Given the description of an element on the screen output the (x, y) to click on. 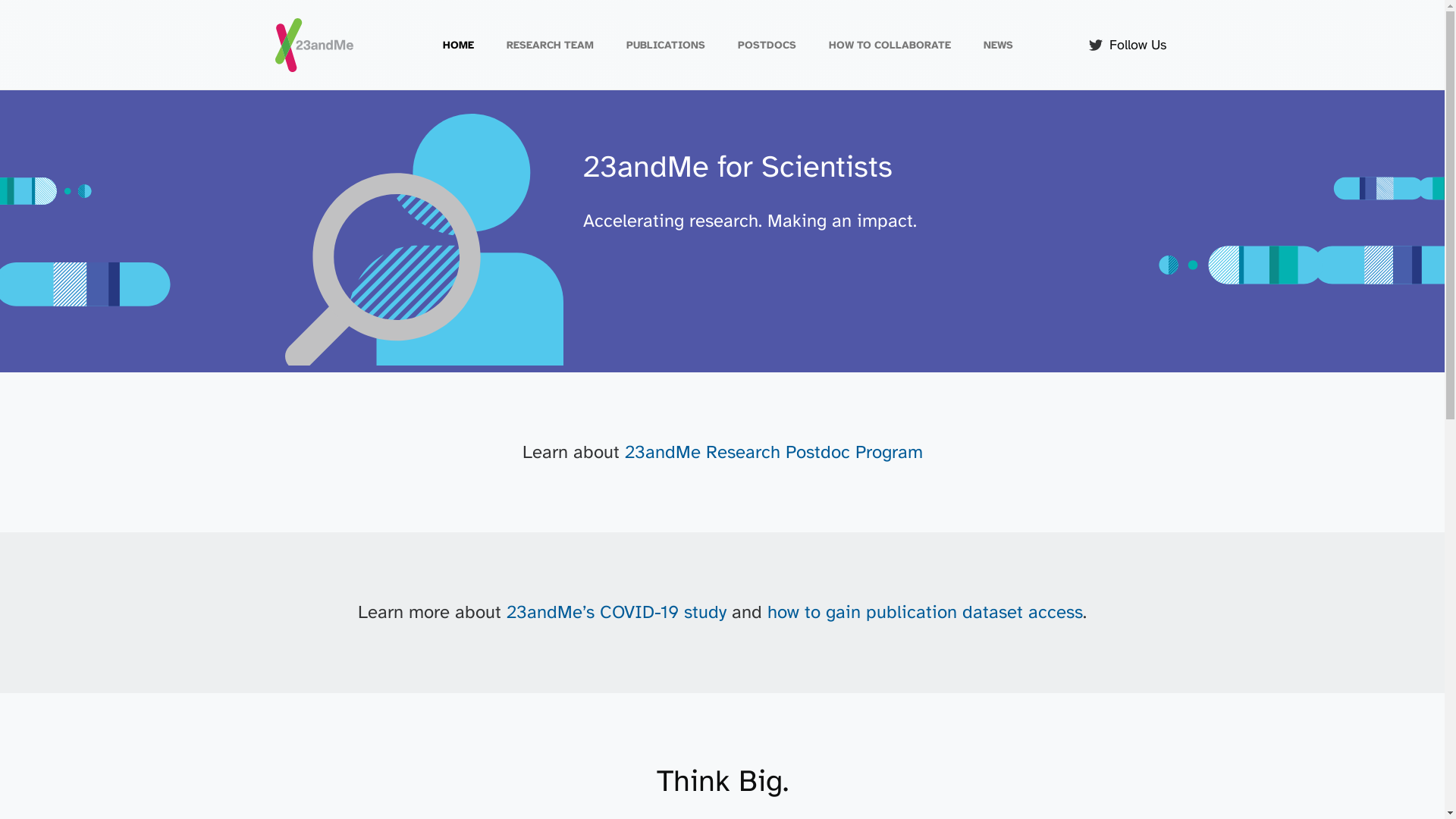
POSTDOCS Element type: text (766, 45)
RESEARCH TEAM Element type: text (549, 45)
Follow Us Element type: text (1127, 44)
HOME Element type: text (458, 45)
NEWS Element type: text (998, 45)
23andMe Research Postdoc Program Element type: text (773, 451)
how to gain publication dataset access Element type: text (924, 611)
HOW TO COLLABORATE Element type: text (889, 45)
PUBLICATIONS Element type: text (665, 45)
